Given the description of an element on the screen output the (x, y) to click on. 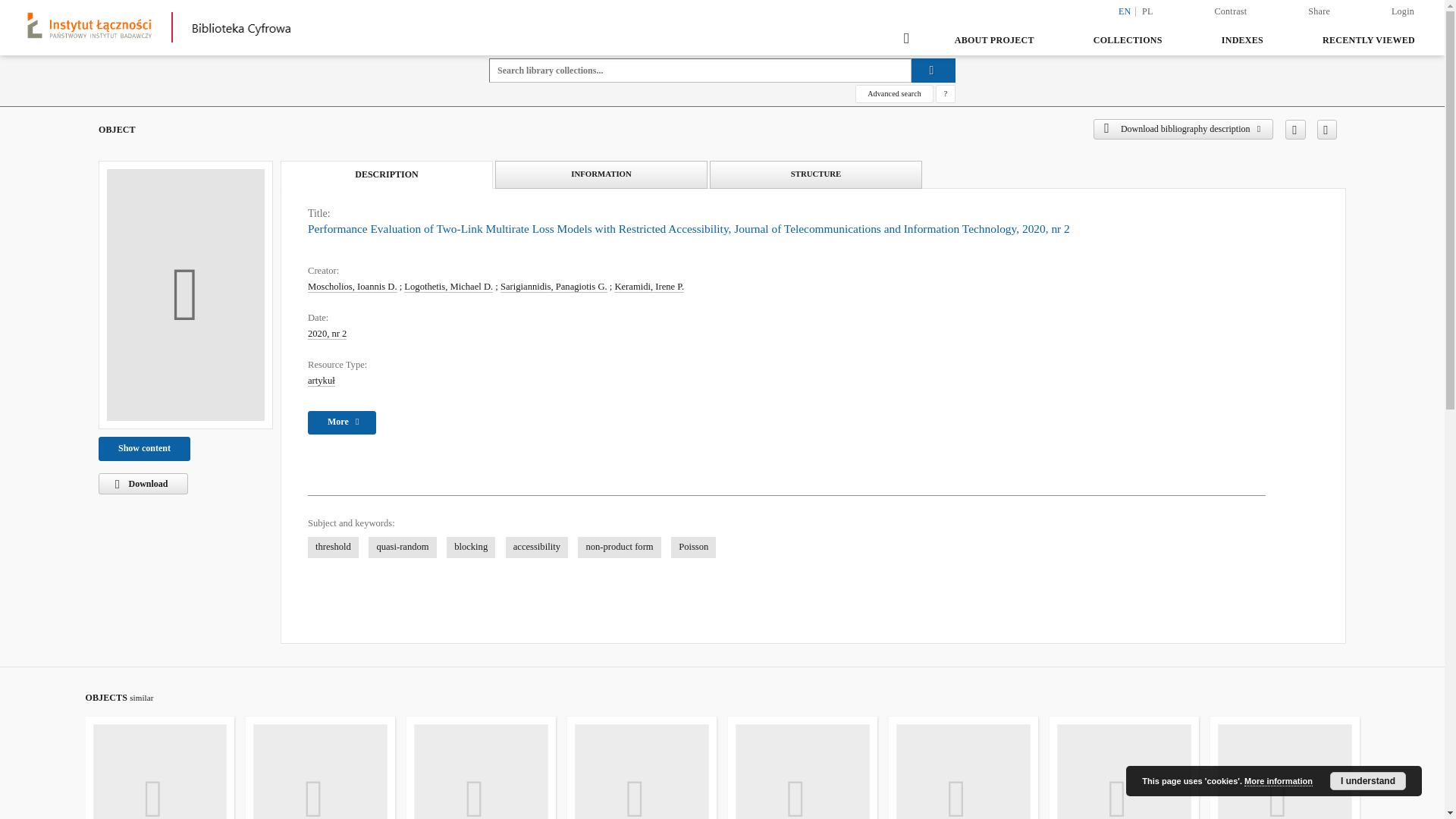
PL (1147, 11)
Contrast (1231, 11)
Share (1318, 11)
COLLECTIONS (1128, 39)
ABOUT PROJECT (994, 39)
EN (1125, 11)
